Given the description of an element on the screen output the (x, y) to click on. 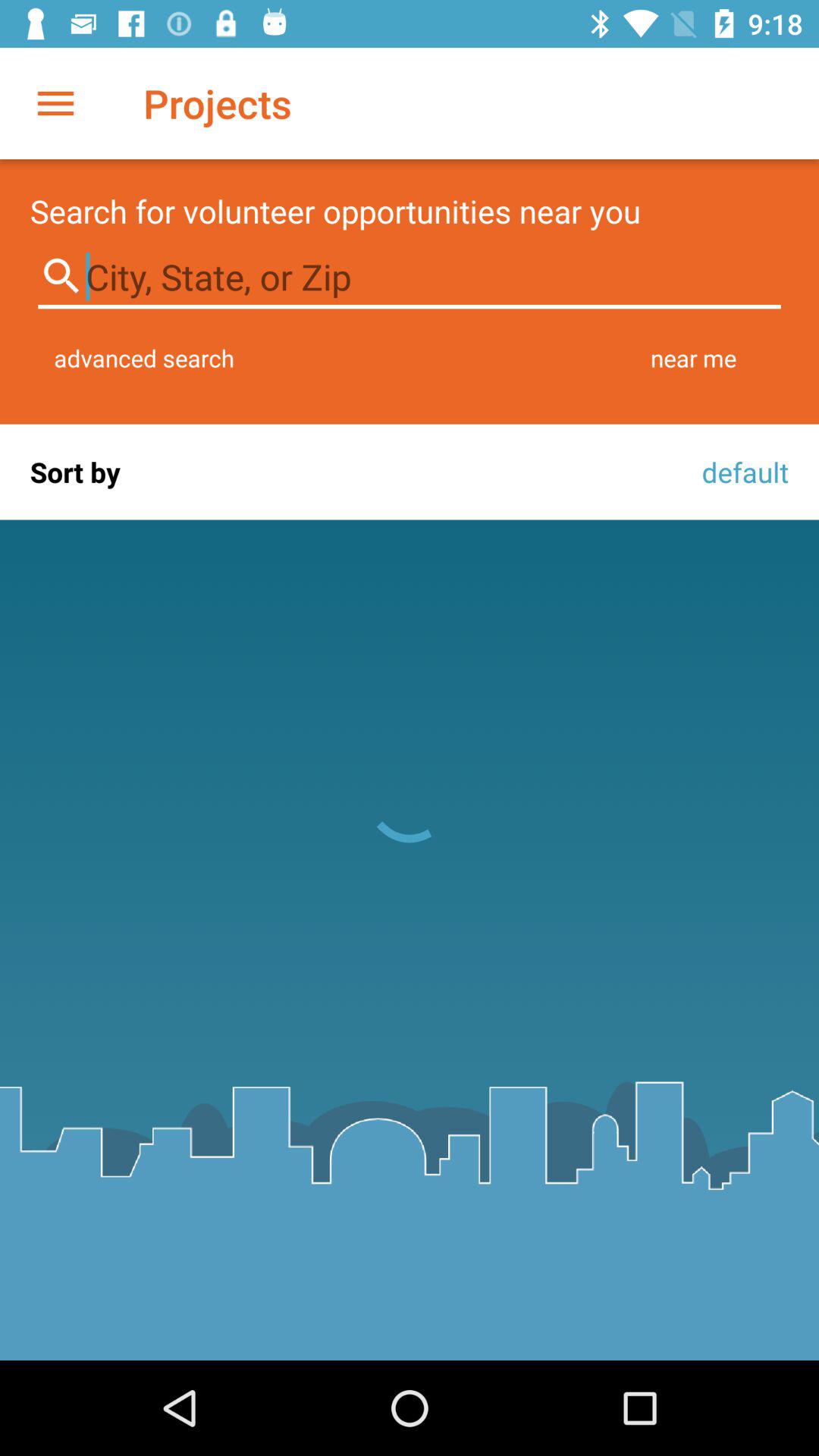
tap item below the near me item (740, 471)
